Given the description of an element on the screen output the (x, y) to click on. 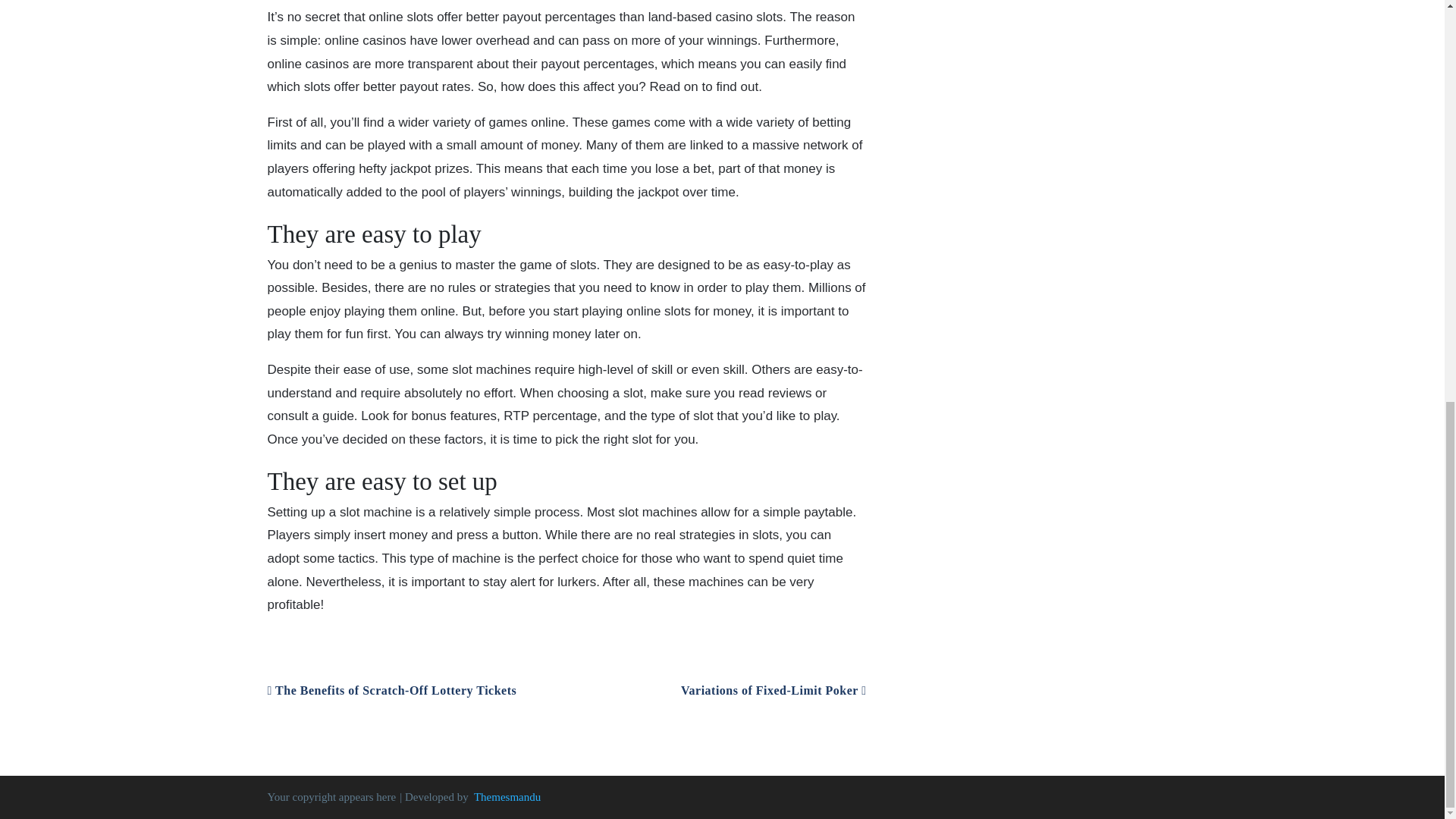
Themesmandu (507, 797)
The Benefits of Scratch-Off Lottery Tickets (391, 689)
Variations of Fixed-Limit Poker (773, 689)
